Given the description of an element on the screen output the (x, y) to click on. 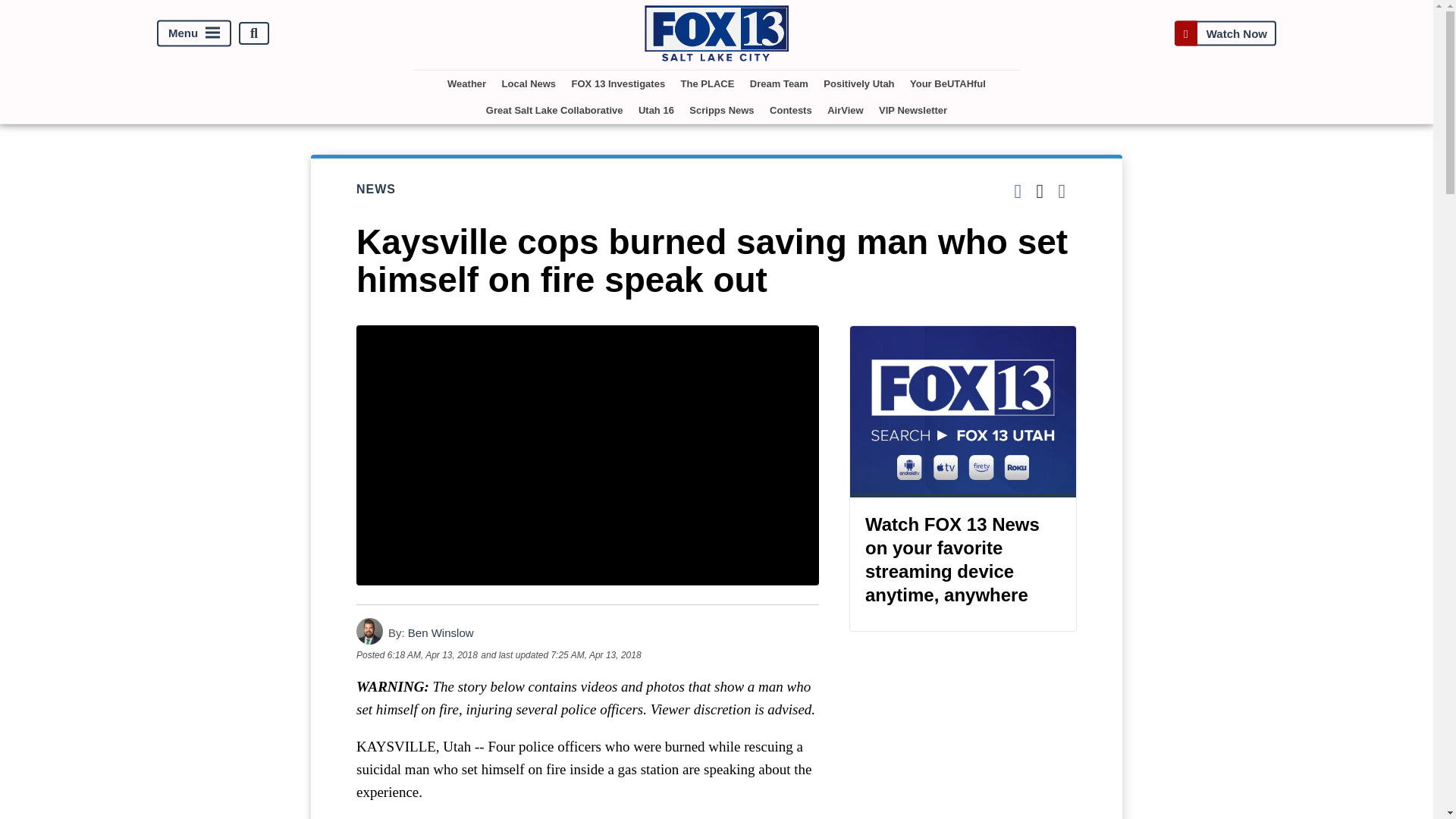
Menu (194, 33)
Watch Now (1224, 33)
